Given the description of an element on the screen output the (x, y) to click on. 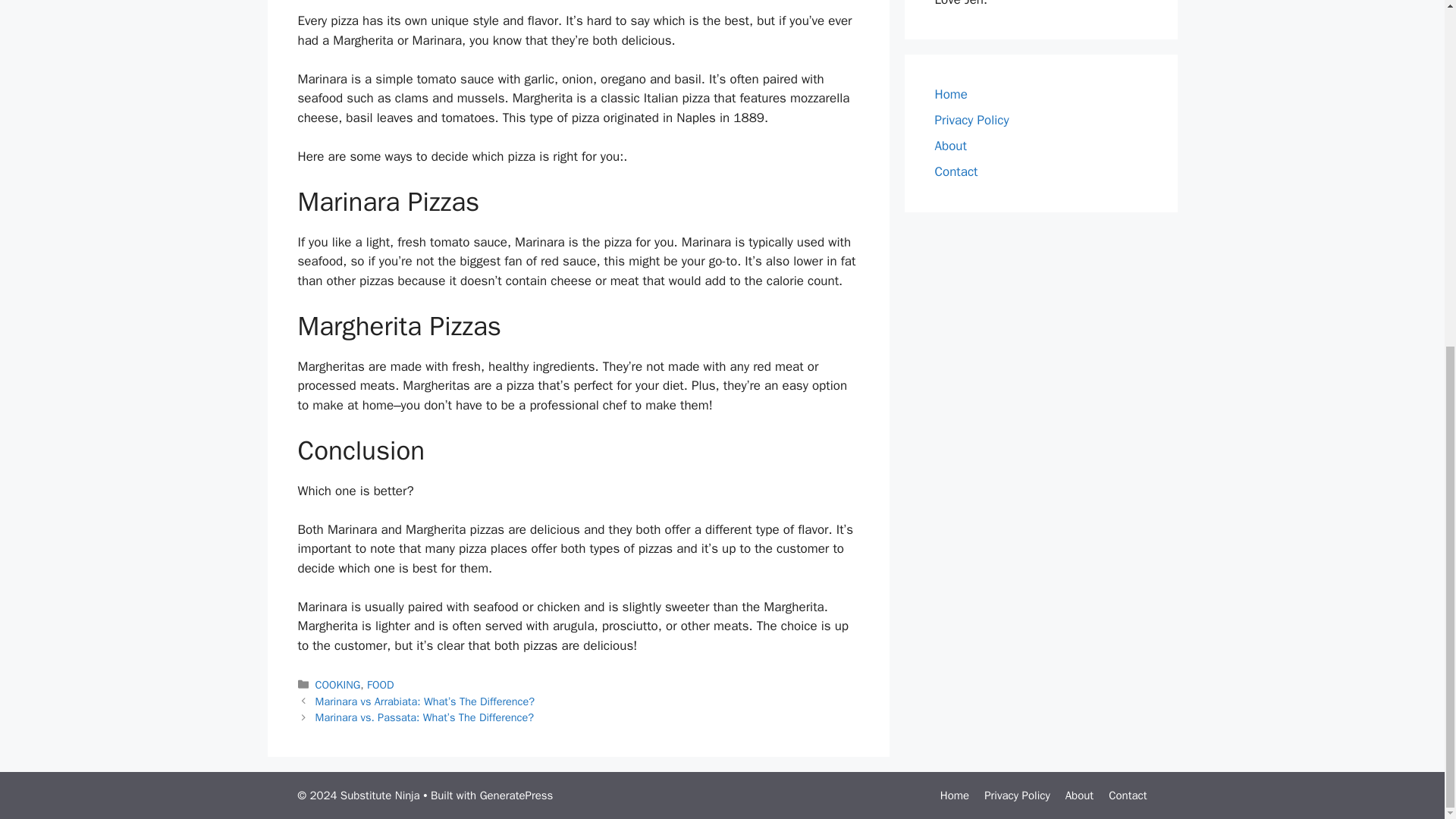
GeneratePress (516, 795)
FOOD (379, 684)
Privacy Policy (971, 119)
Contact (955, 171)
Home (950, 94)
Contact (1127, 795)
Privacy Policy (1016, 795)
About (1079, 795)
COOKING (338, 684)
Home (954, 795)
